Given the description of an element on the screen output the (x, y) to click on. 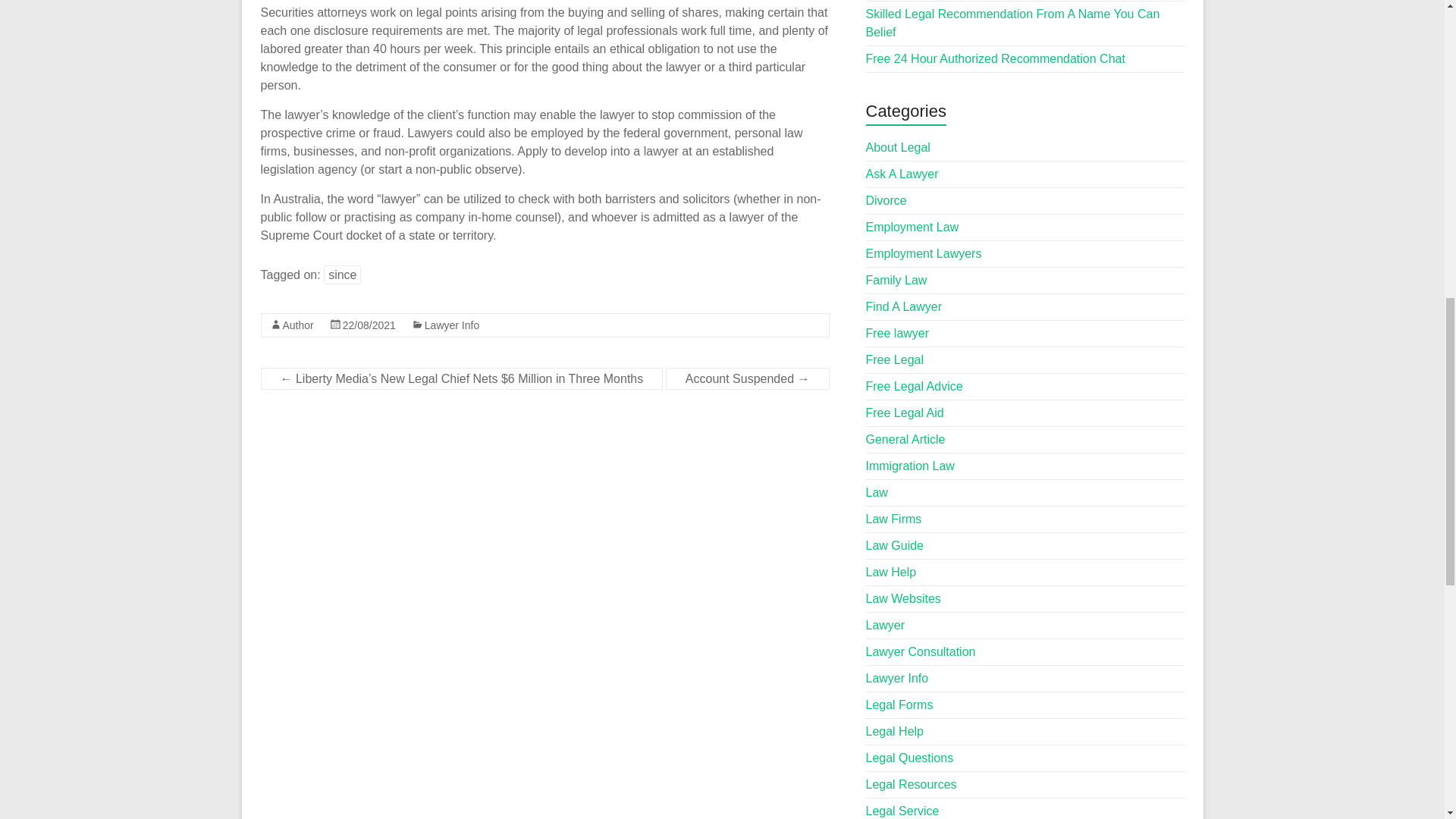
Lawyer Info (452, 325)
Ask A Lawyer (902, 173)
Skilled Legal Recommendation From A Name You Can Belief (1013, 22)
Author (297, 325)
About Legal (898, 146)
Free 24 Hour Authorized Recommendation Chat (995, 58)
since (342, 274)
08:52 (369, 325)
